Given the description of an element on the screen output the (x, y) to click on. 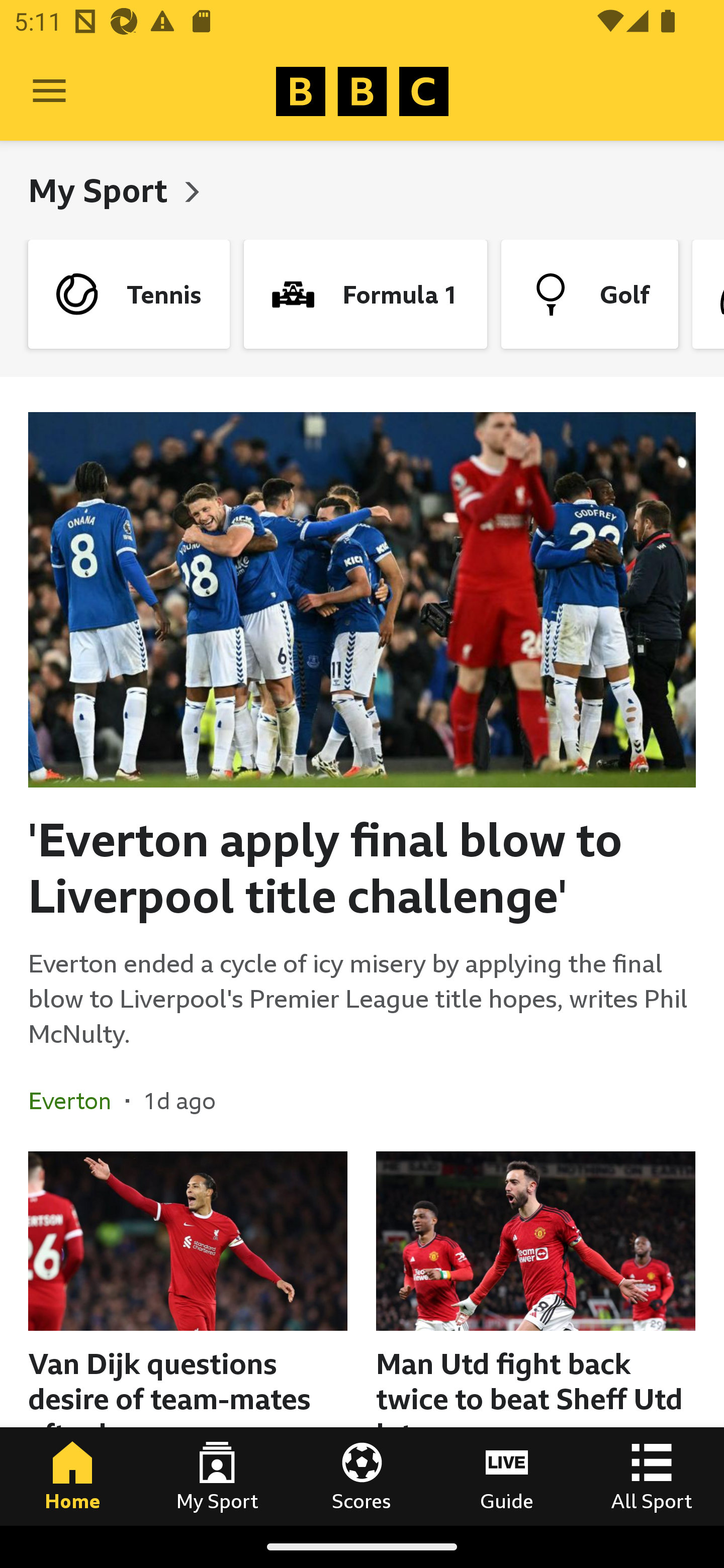
Open Menu (49, 91)
My Sport (101, 190)
Everton In the section Everton (76, 1100)
My Sport (216, 1475)
Scores (361, 1475)
Guide (506, 1475)
All Sport (651, 1475)
